Given the description of an element on the screen output the (x, y) to click on. 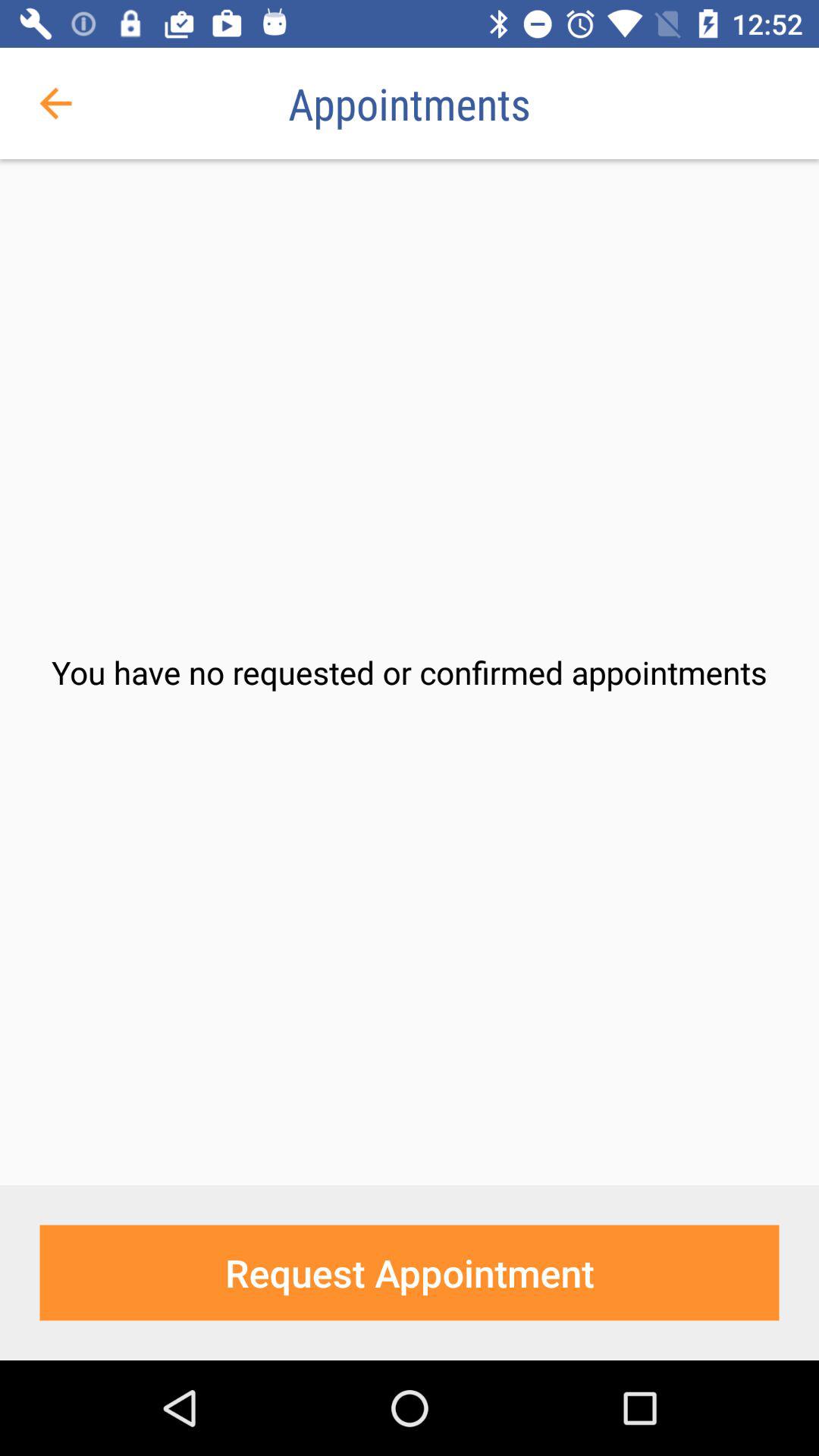
launch the icon next to the appointments (55, 103)
